Given the description of an element on the screen output the (x, y) to click on. 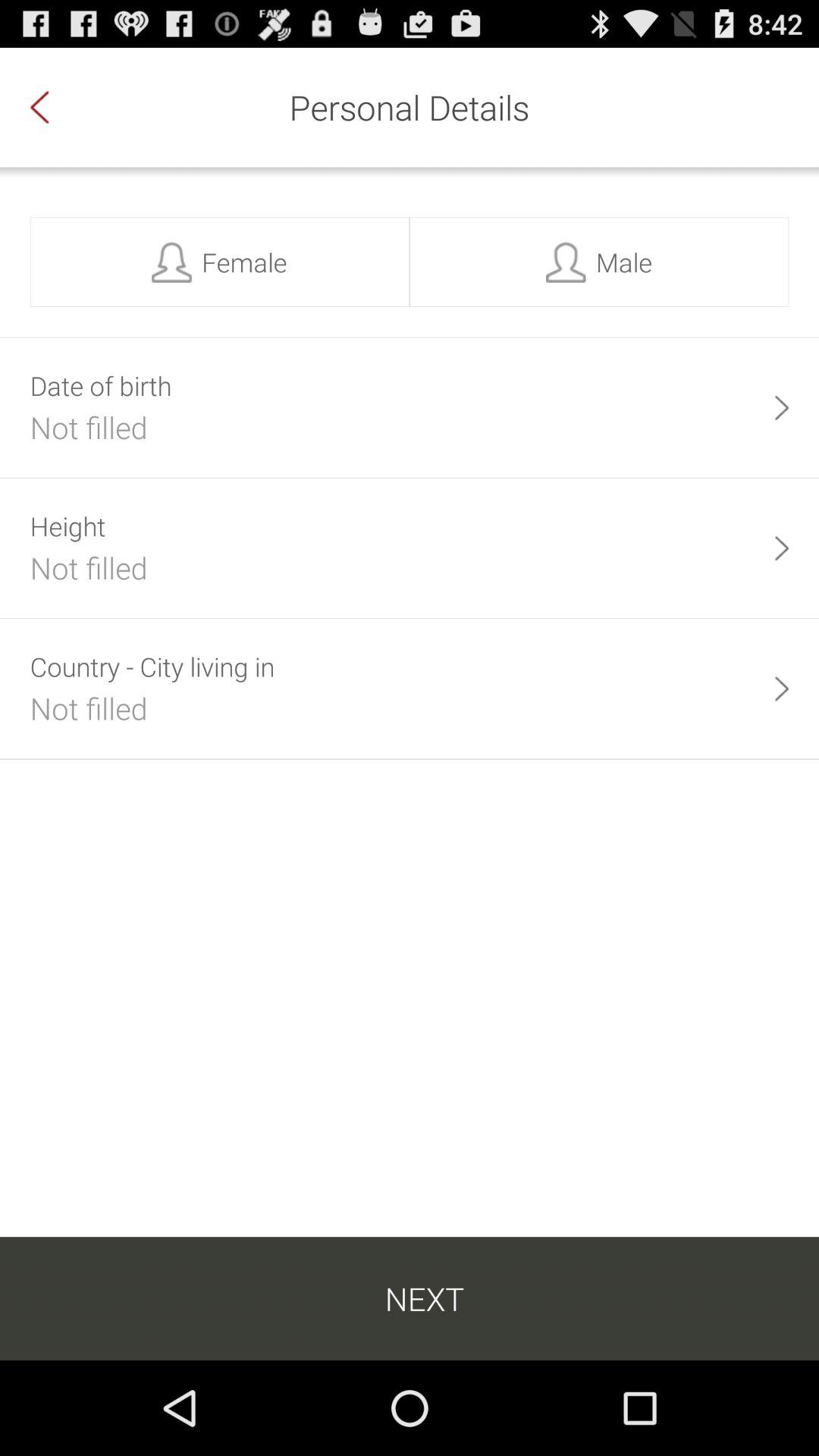
turn on app to the left of personal details icon (55, 107)
